Given the description of an element on the screen output the (x, y) to click on. 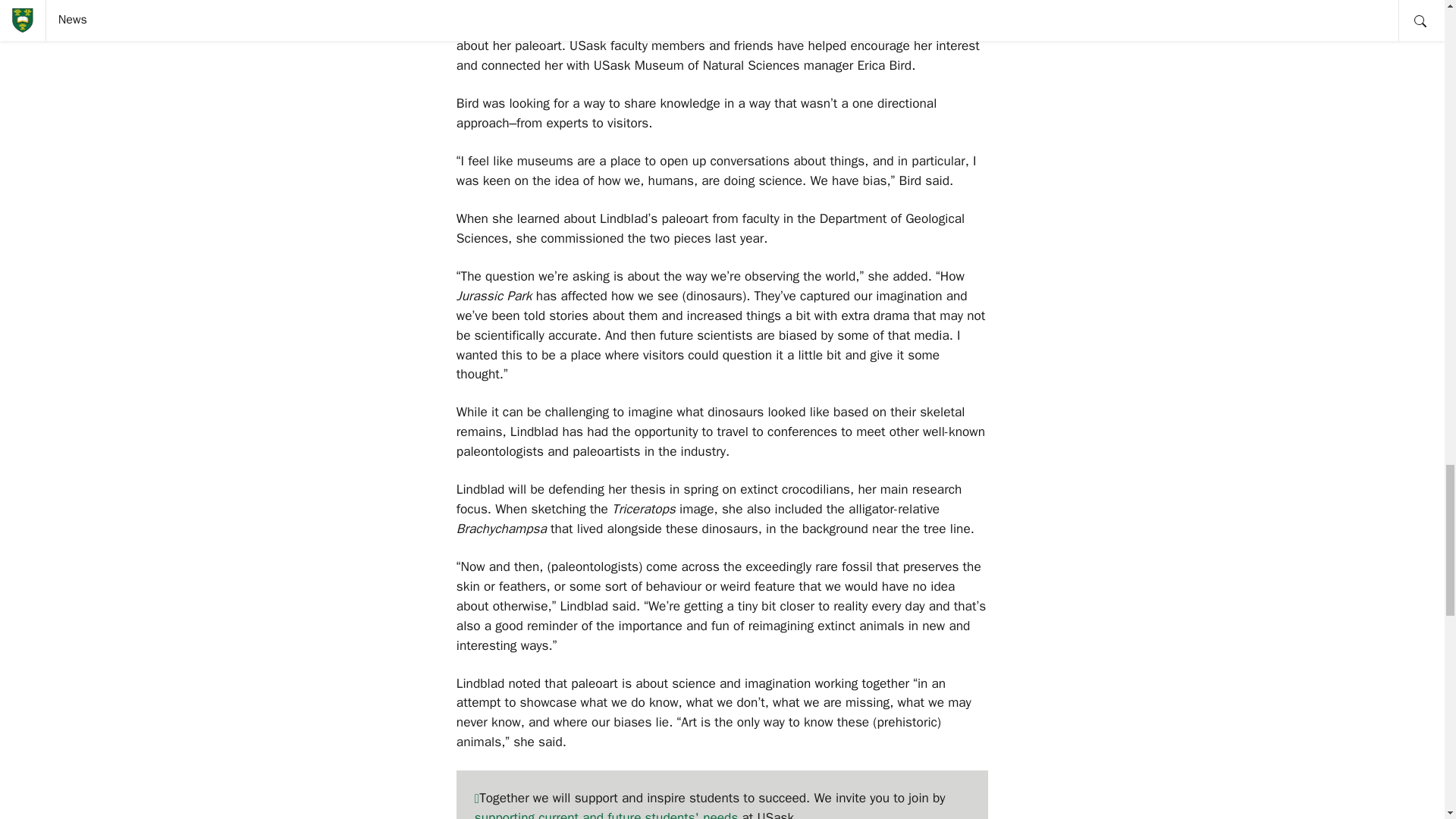
supporting current and future students' needs (606, 814)
